Given the description of an element on the screen output the (x, y) to click on. 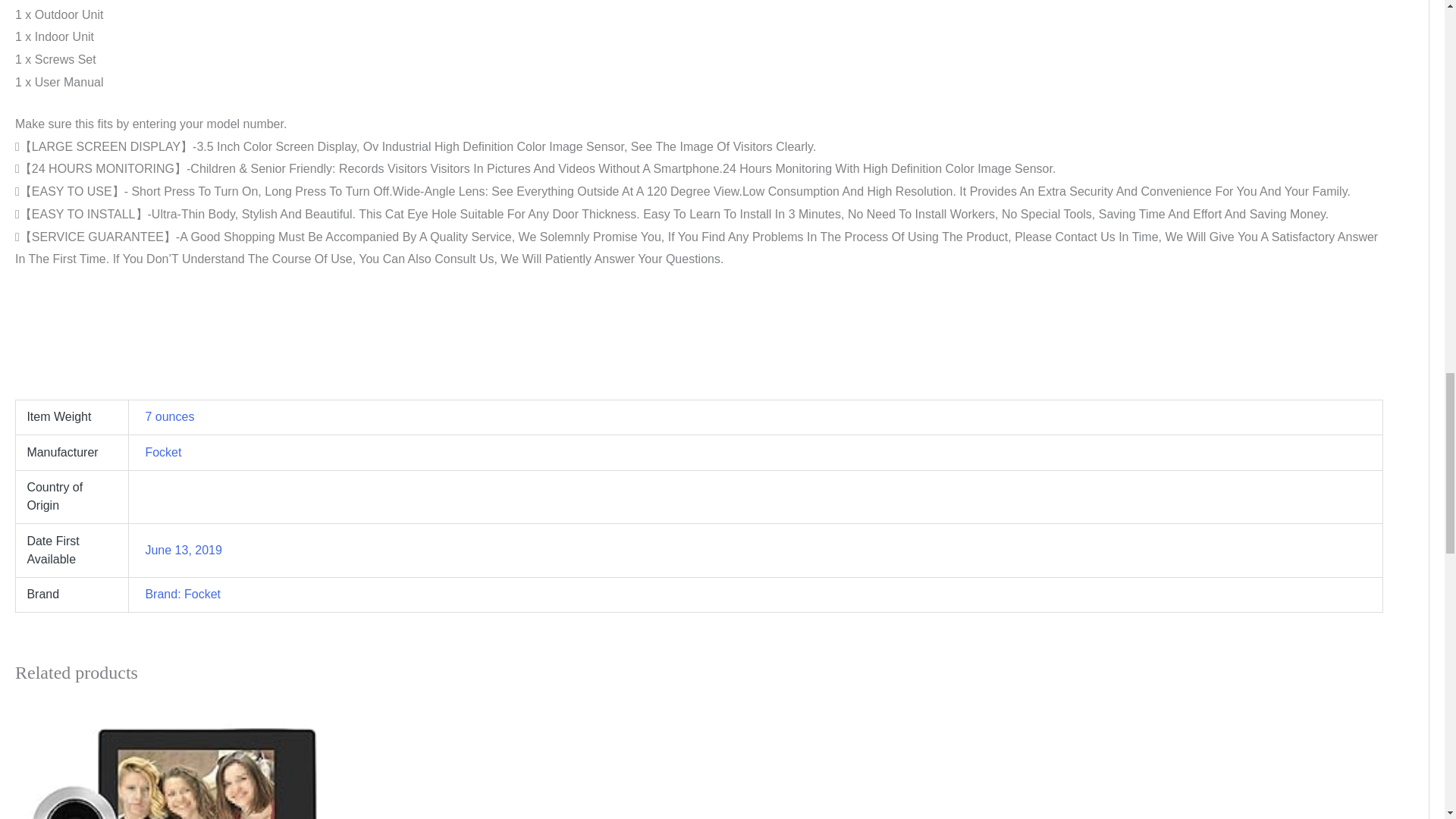
Focket (162, 451)
7 ounces (168, 416)
Brand: Focket (182, 594)
June 13, 2019 (182, 549)
